Given the description of an element on the screen output the (x, y) to click on. 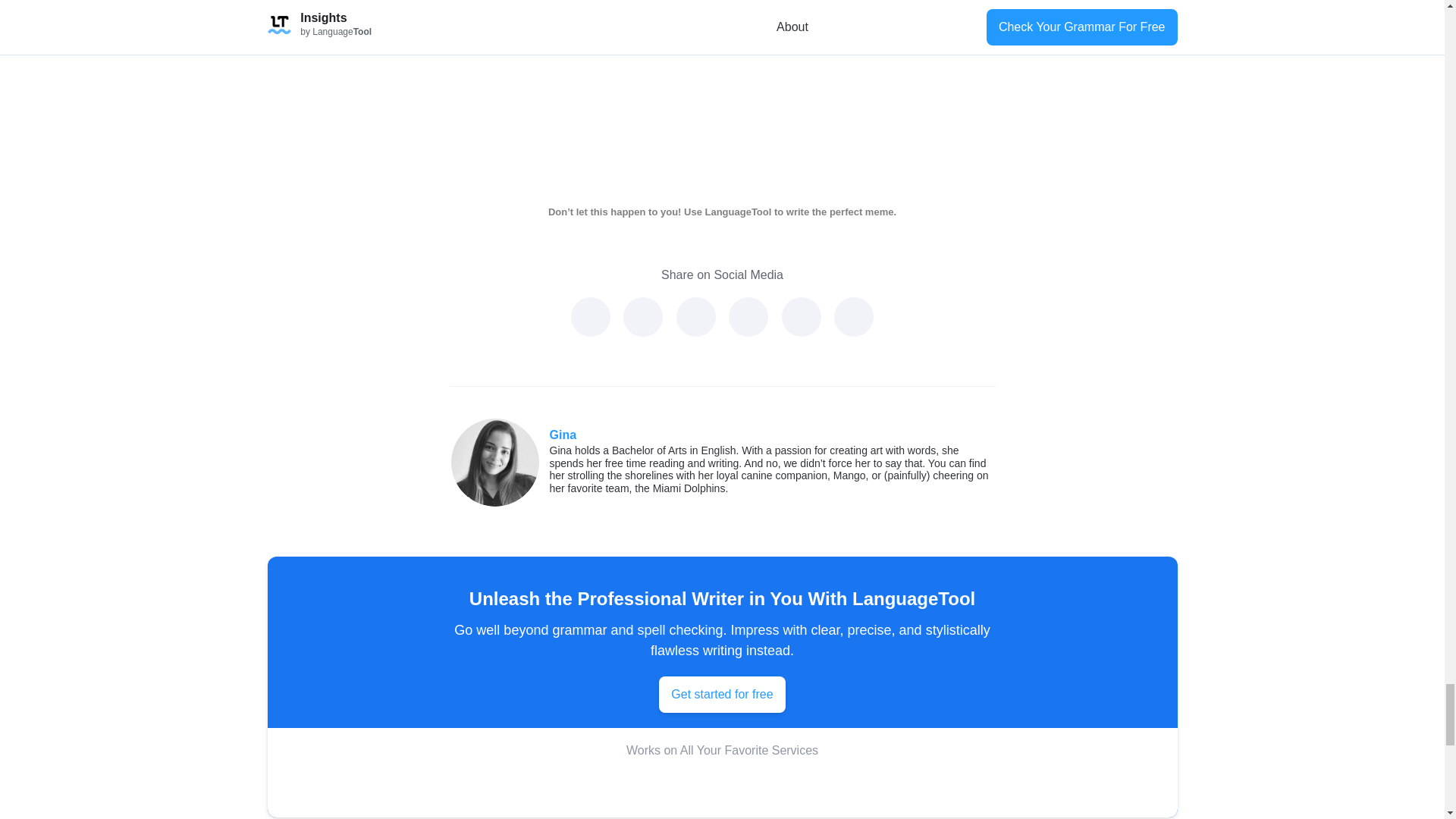
Thunderbird (770, 786)
Opera (677, 786)
Chrome (493, 786)
Google Docs (815, 786)
Safari (631, 786)
Get started for free (721, 694)
Windows (723, 786)
Edge (539, 786)
Firefox (584, 786)
Microsoft Word (862, 786)
